Given the description of an element on the screen output the (x, y) to click on. 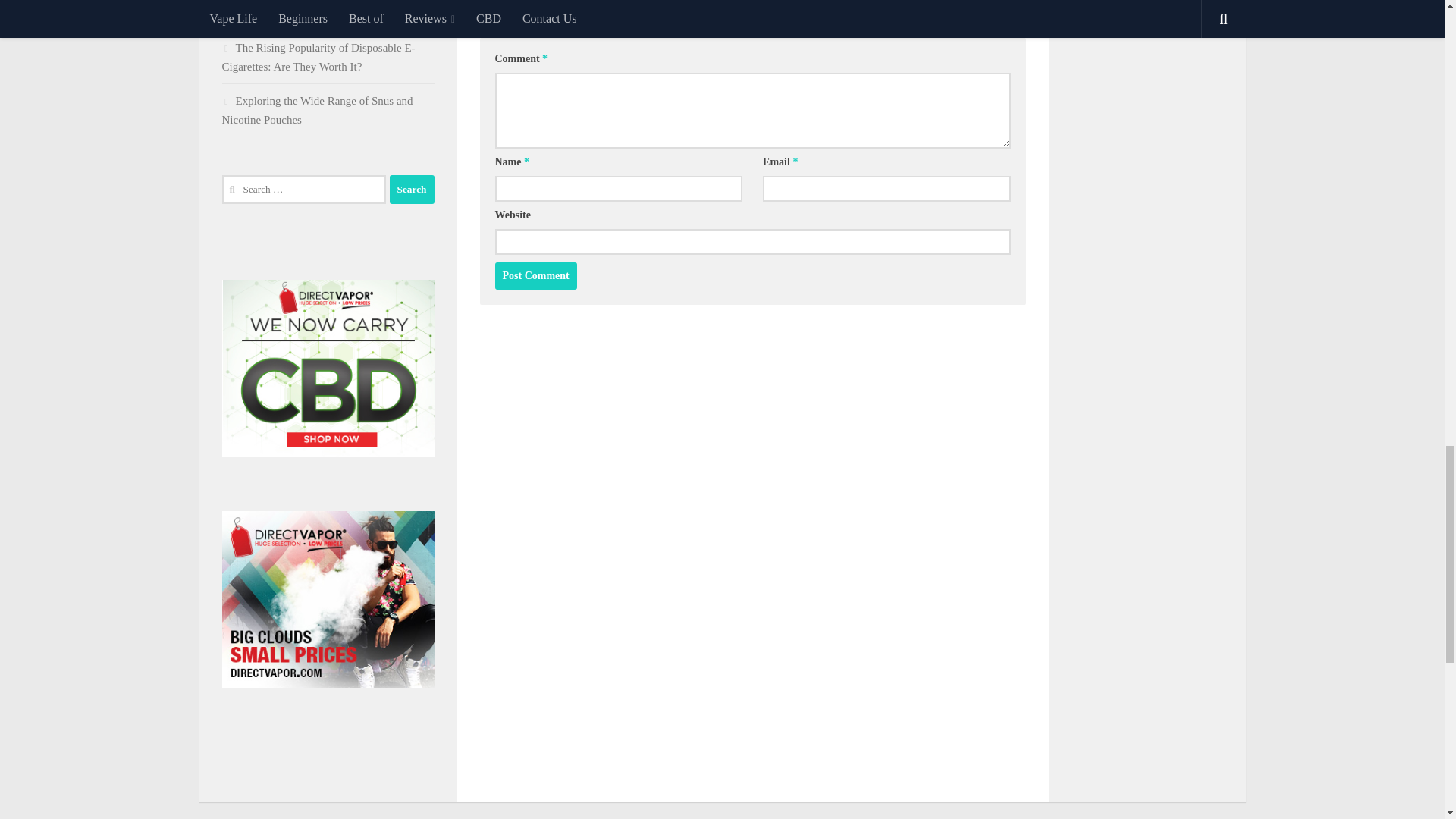
Search (411, 189)
Post Comment (535, 275)
Search (411, 189)
